Given the description of an element on the screen output the (x, y) to click on. 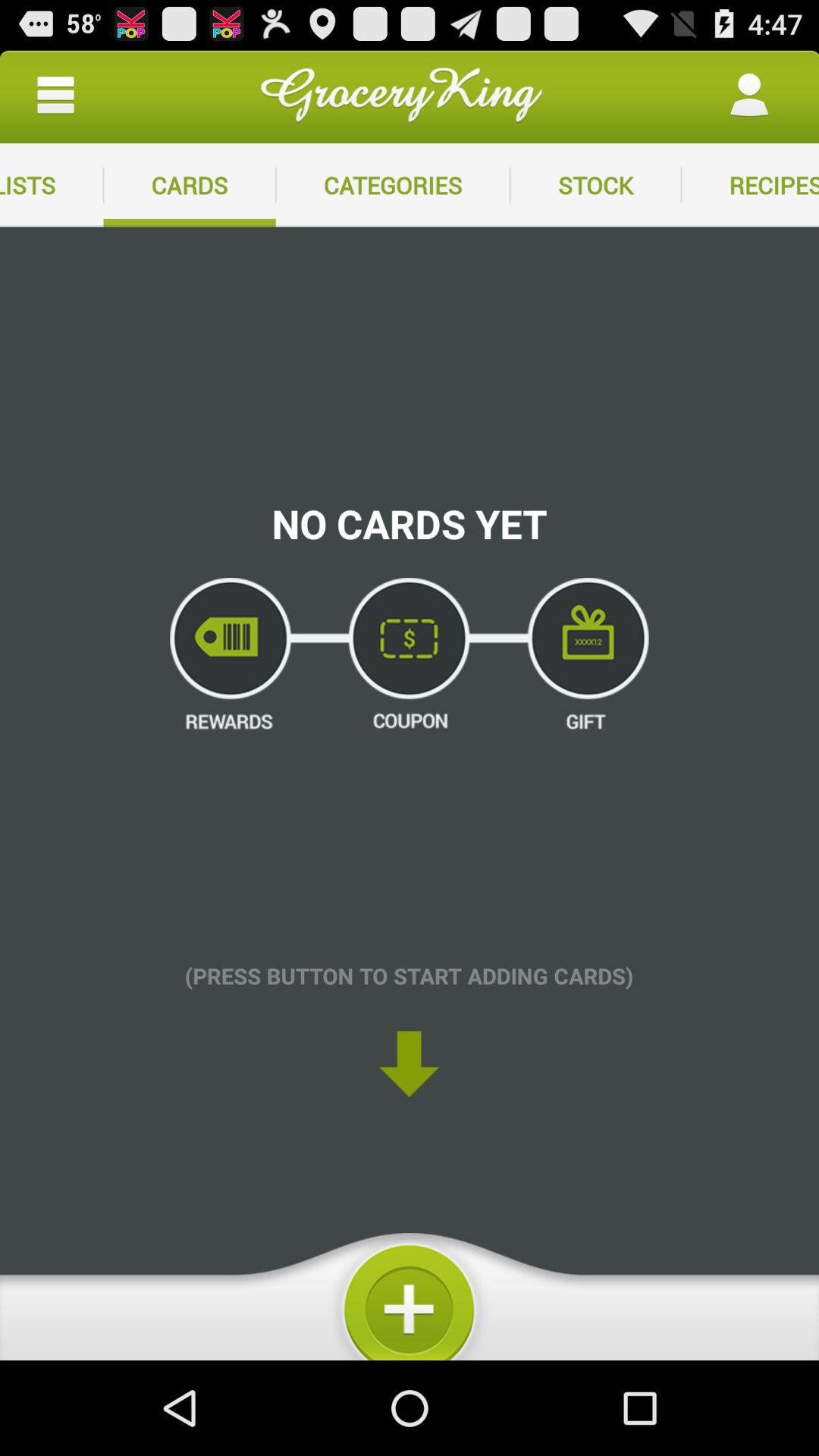
select the item to the right of the cards app (392, 184)
